Given the description of an element on the screen output the (x, y) to click on. 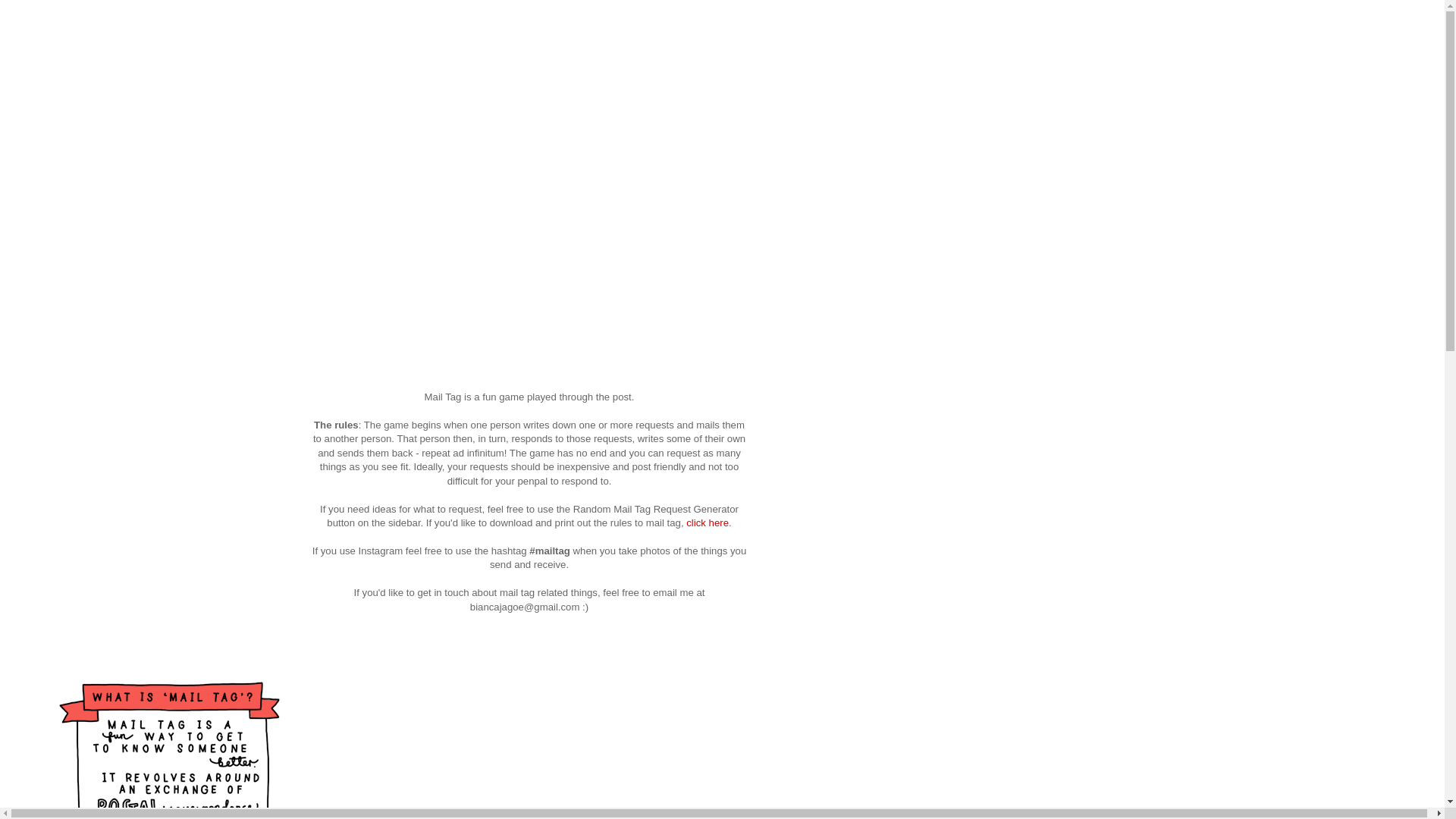
click here Element type: text (707, 522)
